Given the description of an element on the screen output the (x, y) to click on. 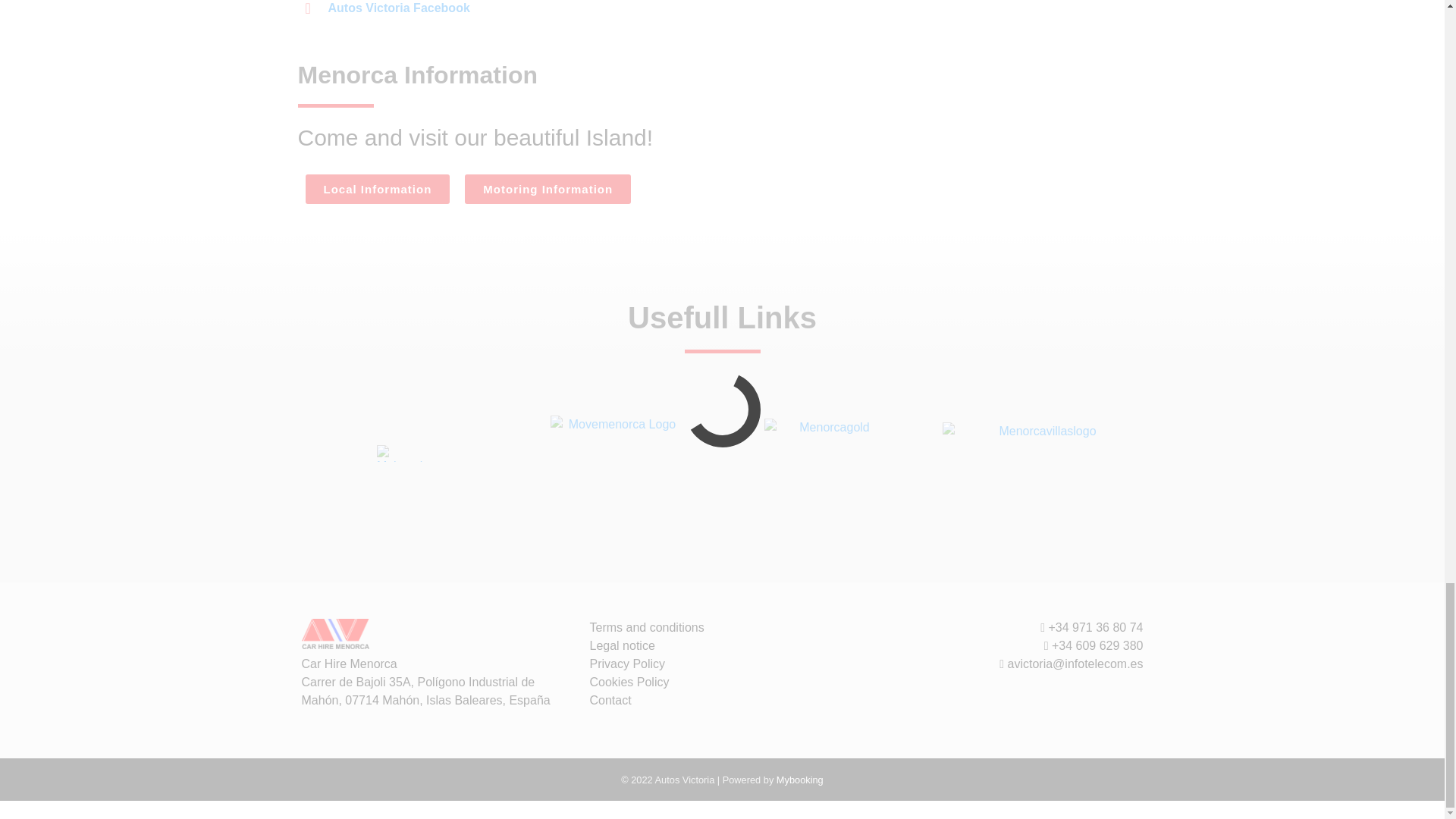
Privacy Policy (627, 663)
Autos Victoria Facebook (386, 8)
Mybooking (800, 779)
Cookies Policy (629, 681)
Terms and conditions (646, 626)
Motoring Information (547, 188)
Contact (610, 699)
Local Information (376, 188)
Legal notice (622, 645)
